Given the description of an element on the screen output the (x, y) to click on. 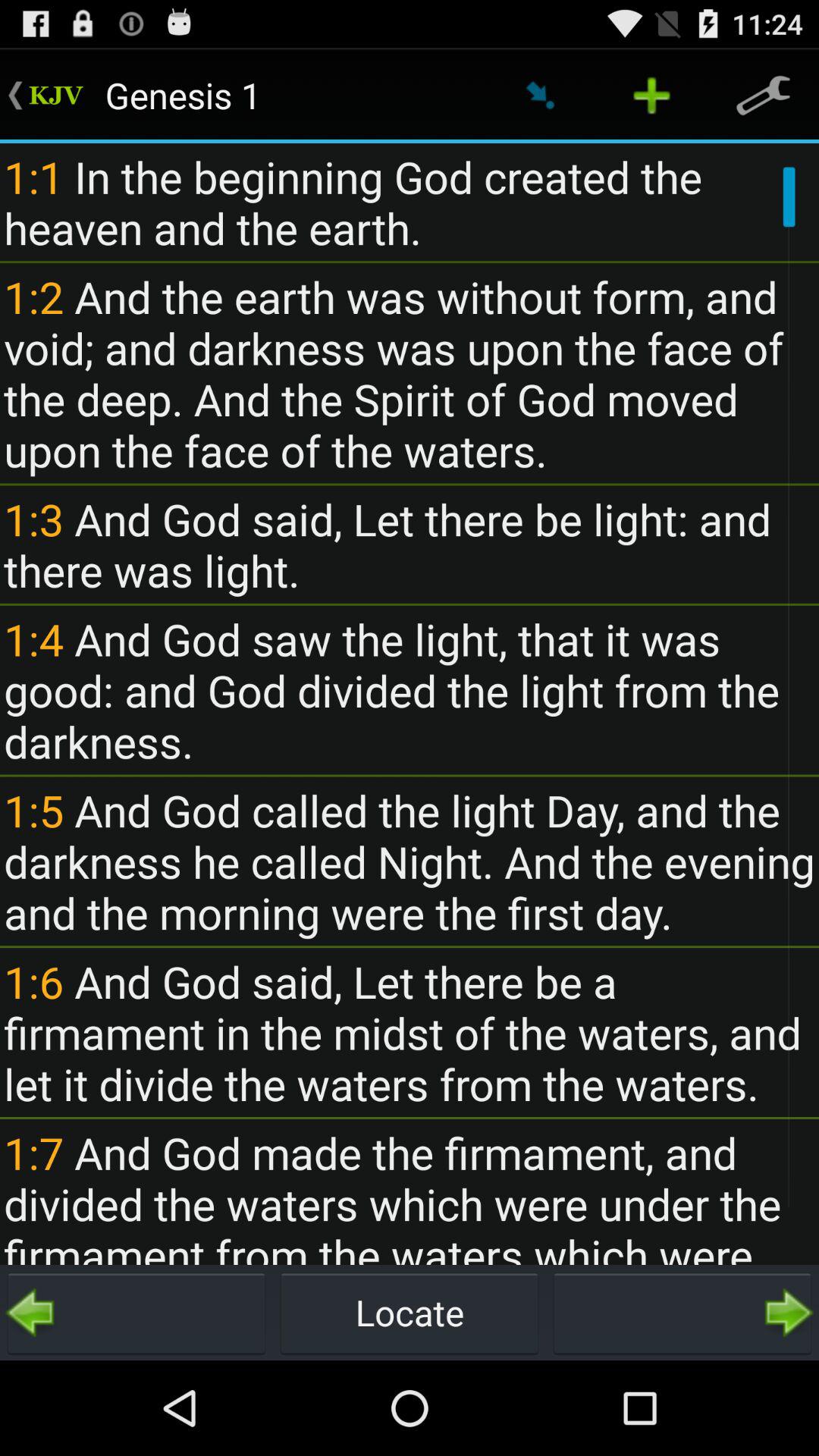
open item above the 1 1 in (651, 95)
